Given the description of an element on the screen output the (x, y) to click on. 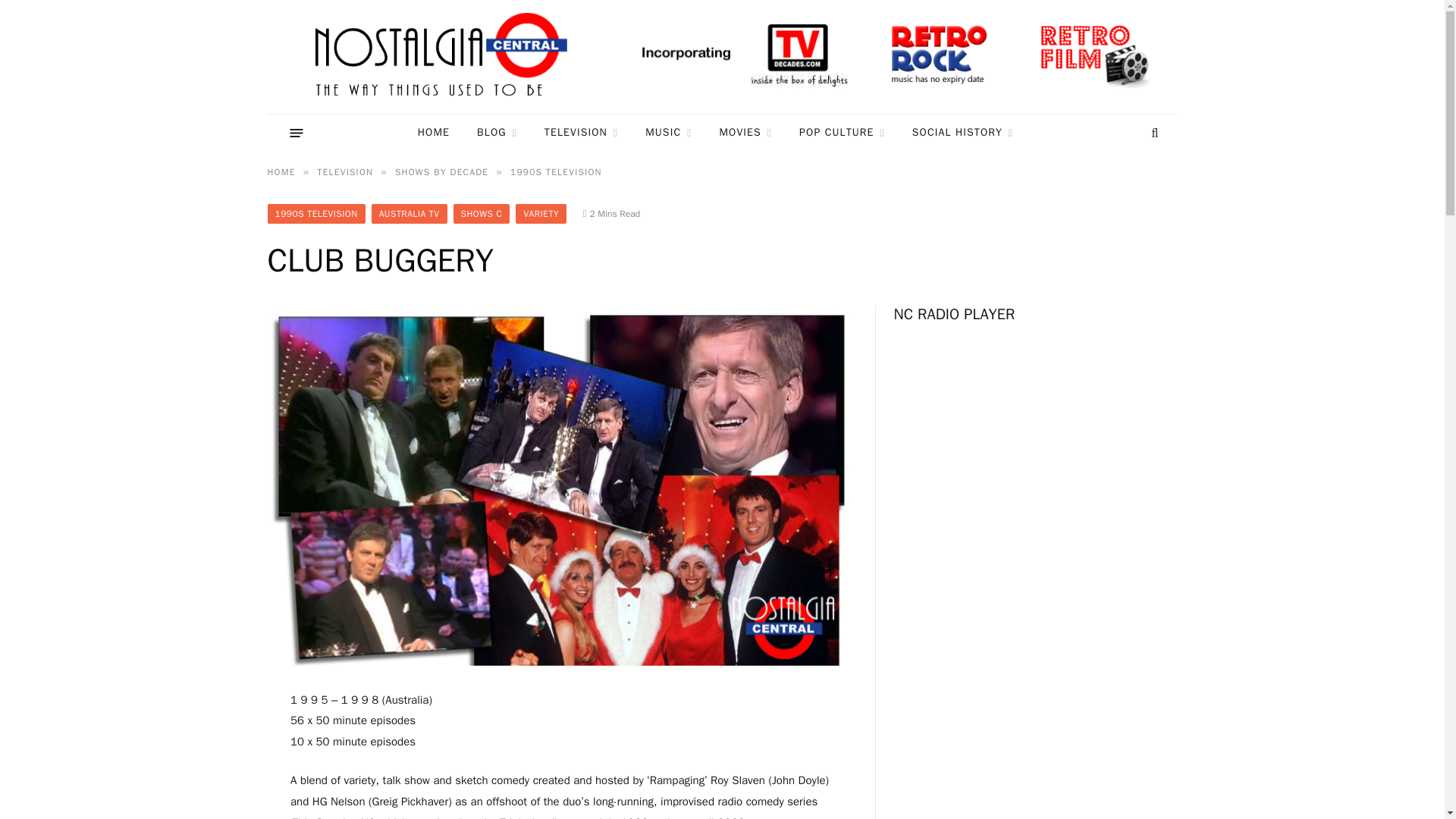
TELEVISION (581, 132)
Nostalgia Central (444, 56)
BLOG (497, 132)
HOME (433, 132)
